Given the description of an element on the screen output the (x, y) to click on. 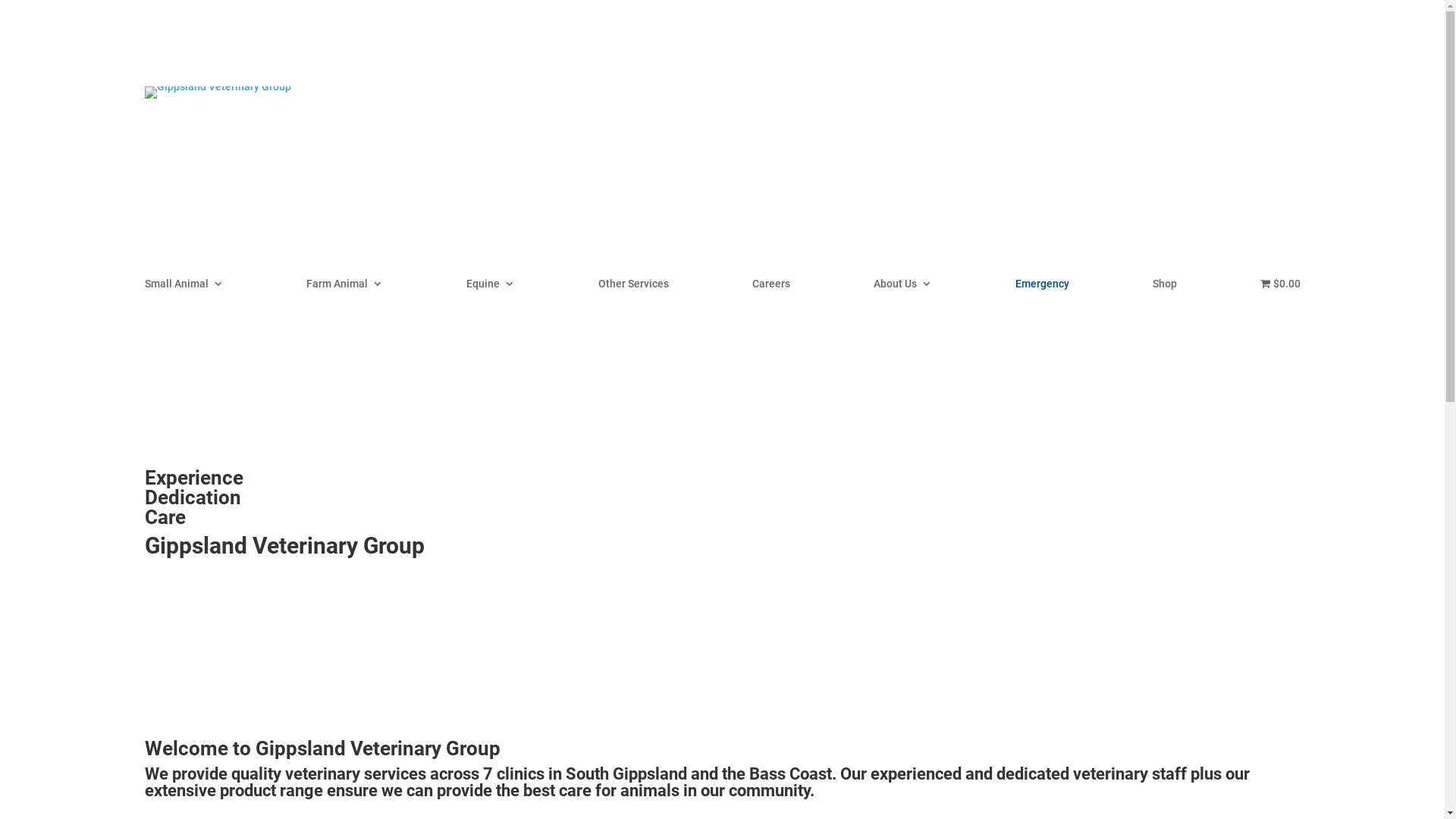
Gippsland Veterinary Group Element type: hover (217, 92)
Emergency Element type: text (1042, 286)
Small Animal Element type: text (183, 286)
Careers Element type: text (771, 286)
Farm Animal Element type: text (344, 286)
$0.00 Element type: text (1280, 286)
Other Services Element type: text (633, 286)
About Us Element type: text (902, 286)
Equine Element type: text (490, 286)
Shop Element type: text (1164, 286)
